Given the description of an element on the screen output the (x, y) to click on. 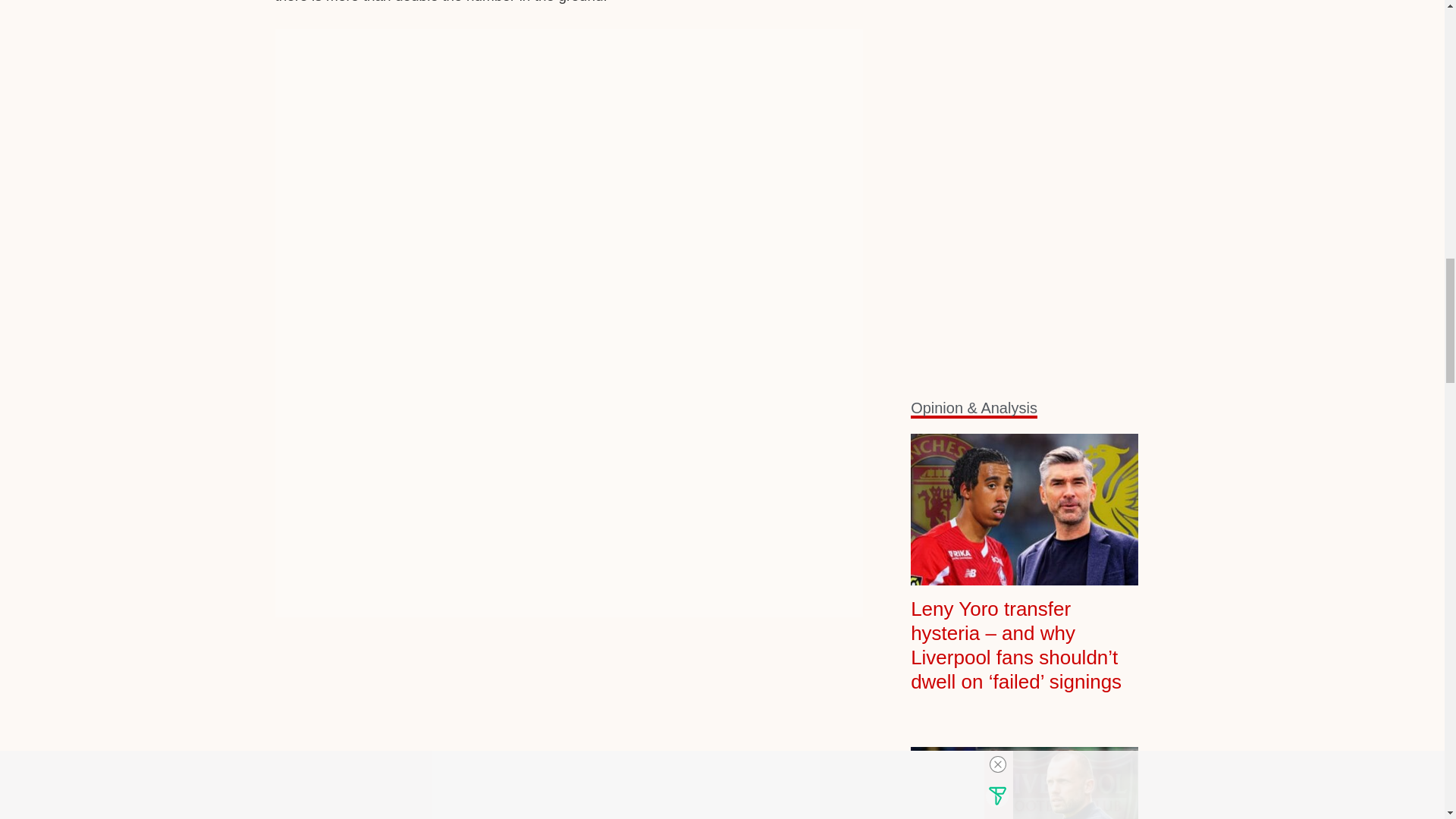
3rd party ad content (568, 732)
